Given the description of an element on the screen output the (x, y) to click on. 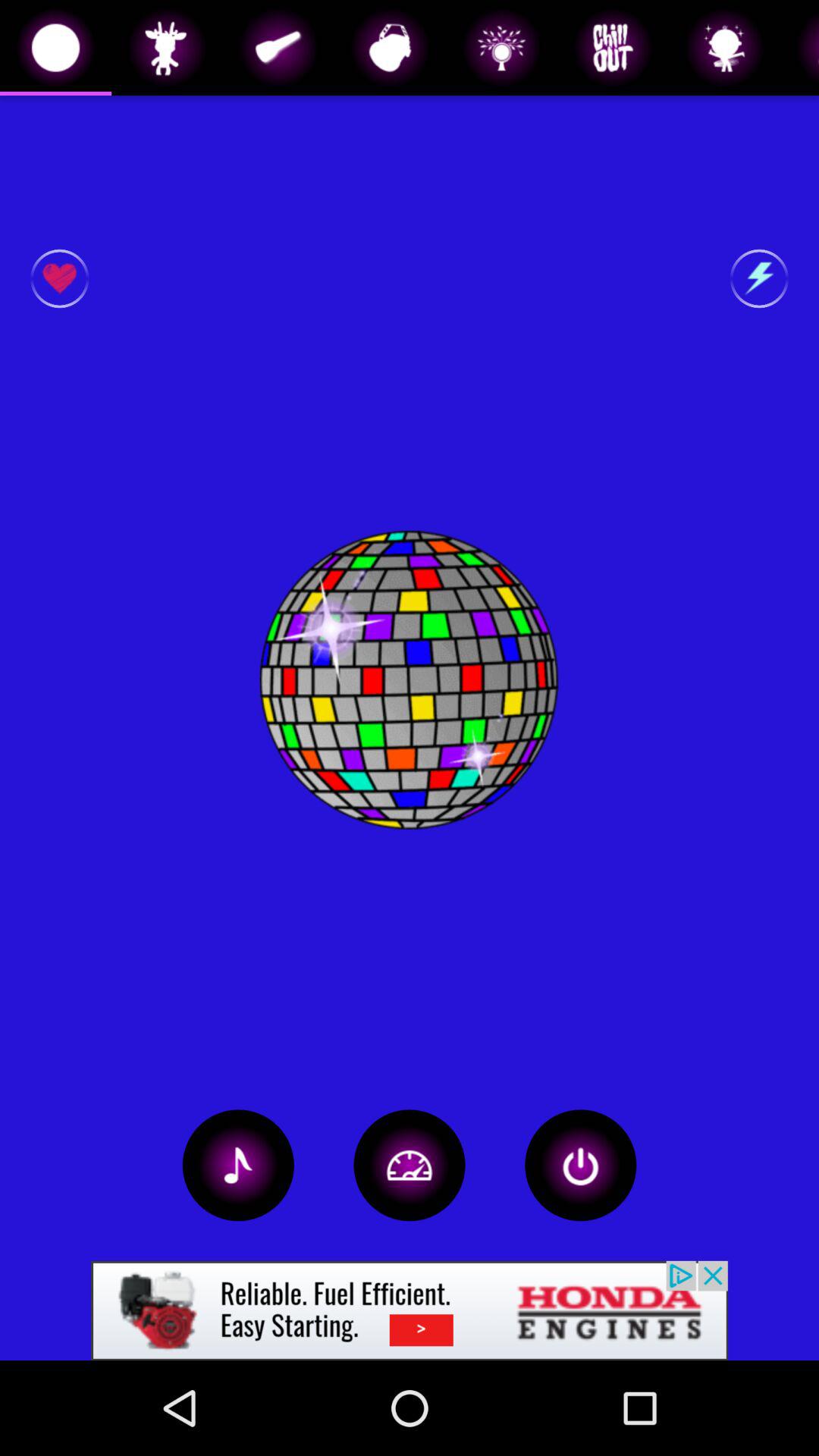
on/off music (238, 1165)
